Given the description of an element on the screen output the (x, y) to click on. 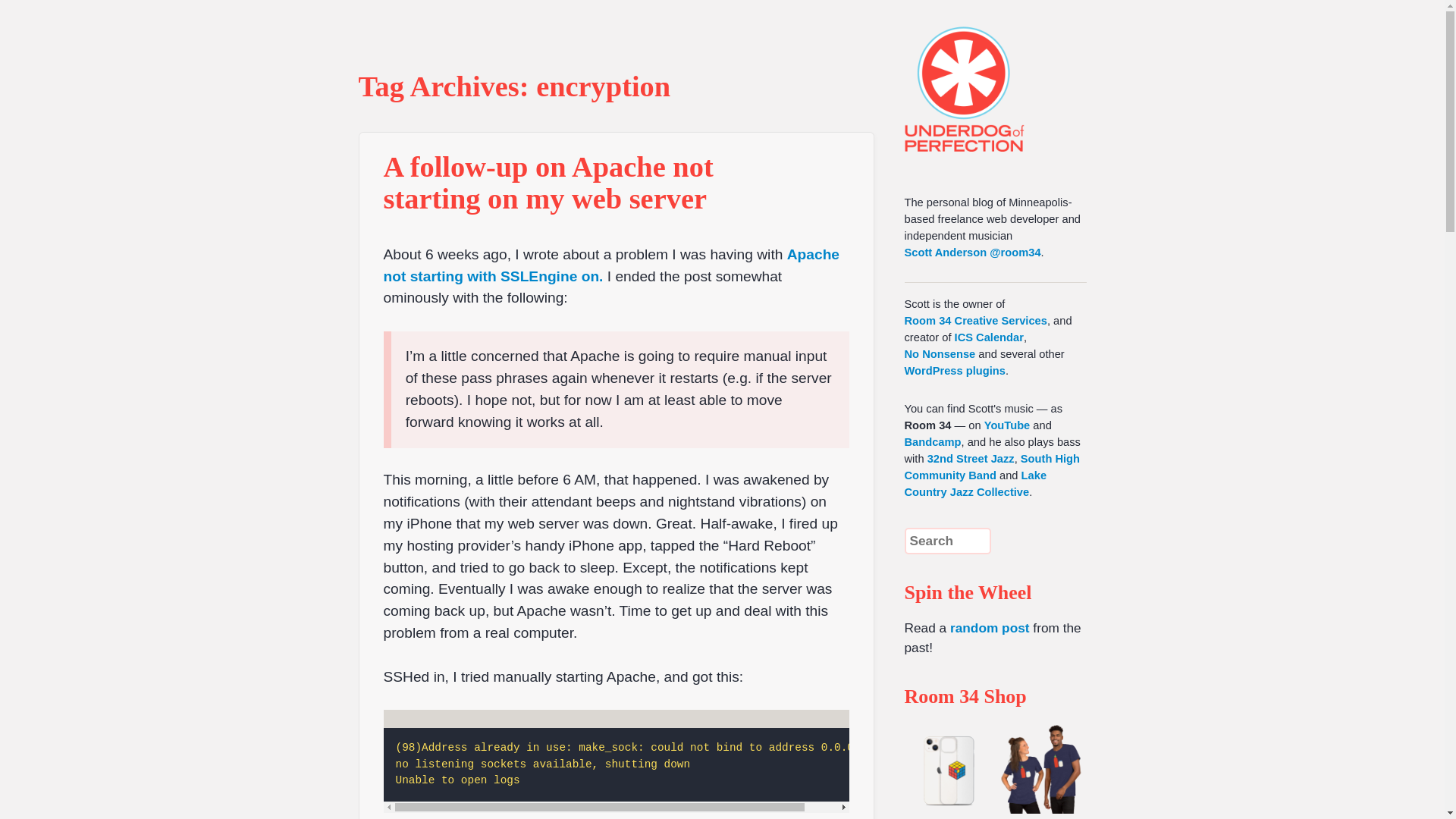
32nd Street Jazz (970, 458)
Bandcamp (932, 441)
South High Community Band (992, 466)
UNDERDOG of PERFECTION (991, 75)
WordPress plugins (954, 370)
Apache not starting with SSLEngine on. (612, 265)
No Nonsense (939, 354)
YouTube (1007, 425)
random post (989, 627)
UNDERDOG of PERFECTION (991, 75)
